Given the description of an element on the screen output the (x, y) to click on. 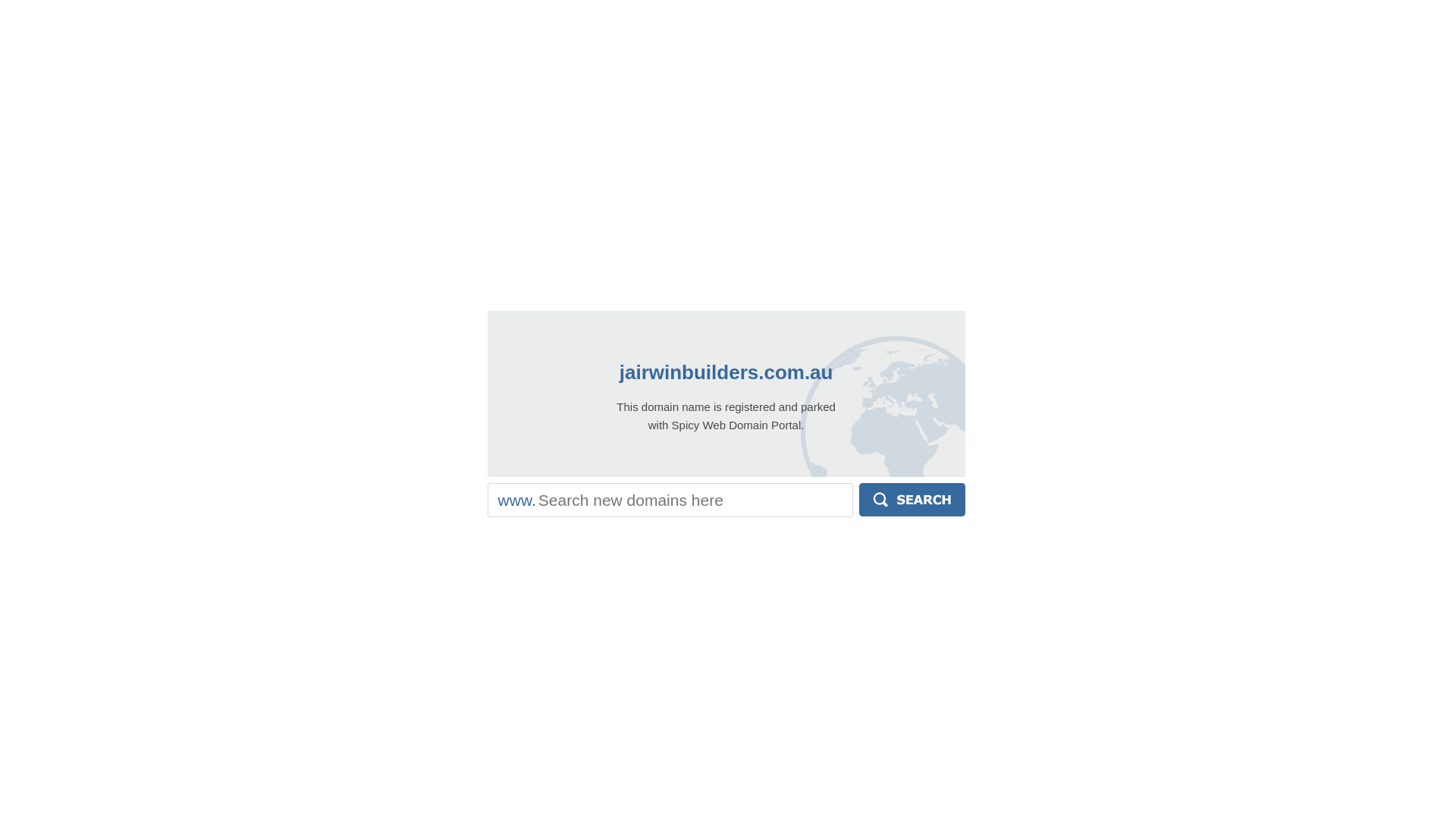
Search Element type: text (912, 499)
